Given the description of an element on the screen output the (x, y) to click on. 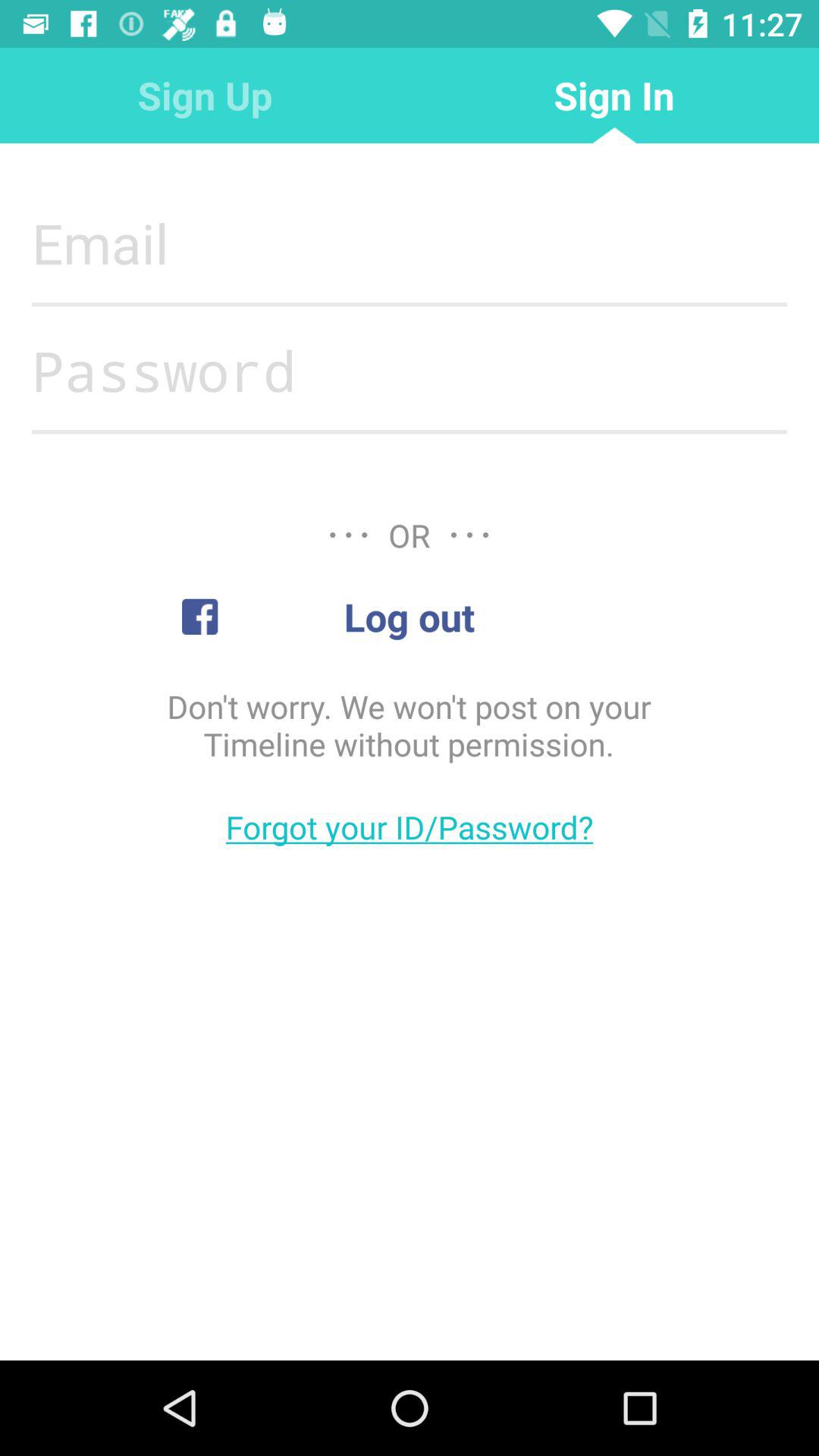
choose forgot your id (409, 826)
